Given the description of an element on the screen output the (x, y) to click on. 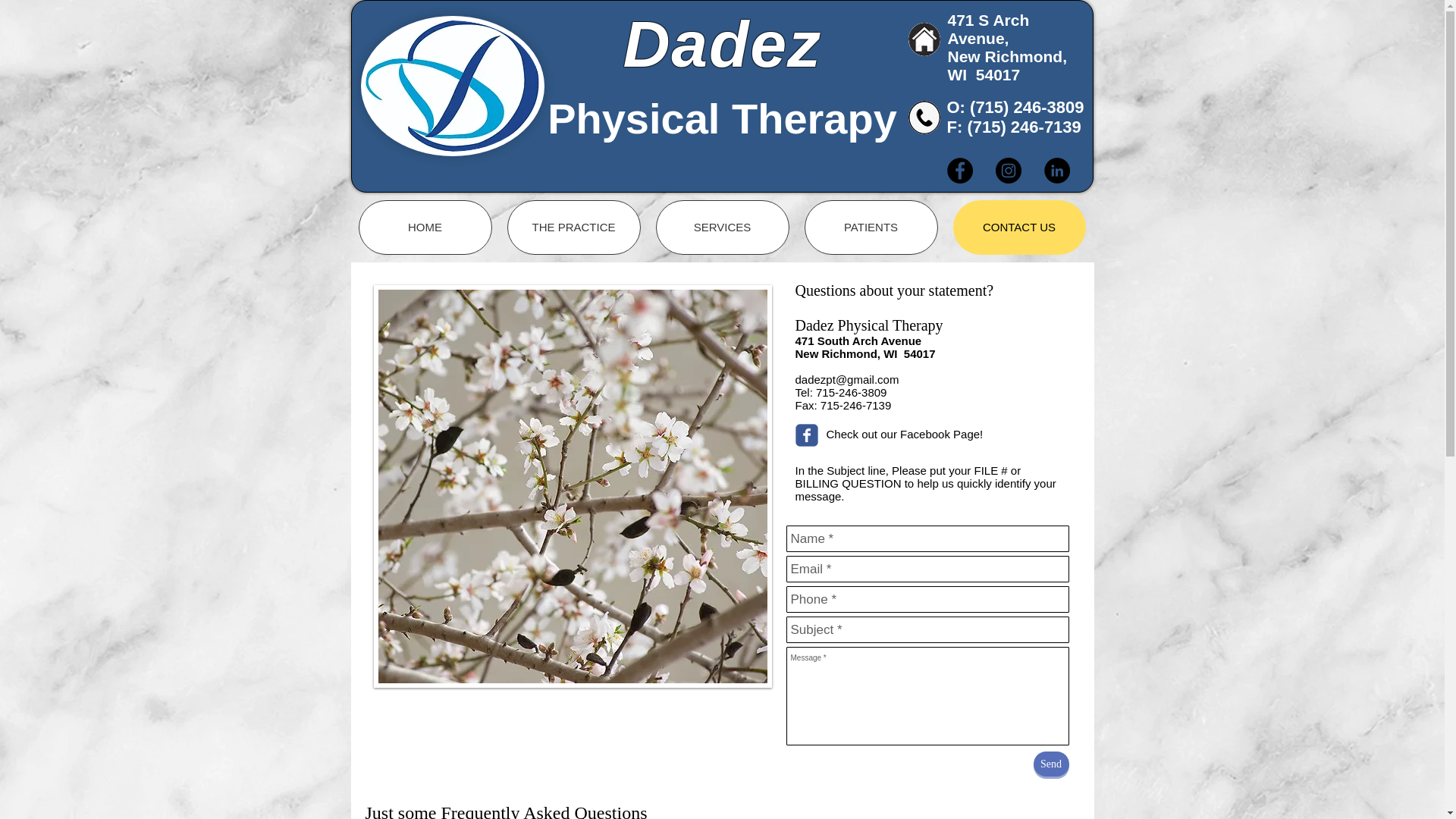
SERVICES (722, 226)
THE PRACTICE (573, 226)
PATIENTS (870, 226)
Send (1050, 763)
CONTACT US (1018, 226)
HOME (425, 226)
